Given the description of an element on the screen output the (x, y) to click on. 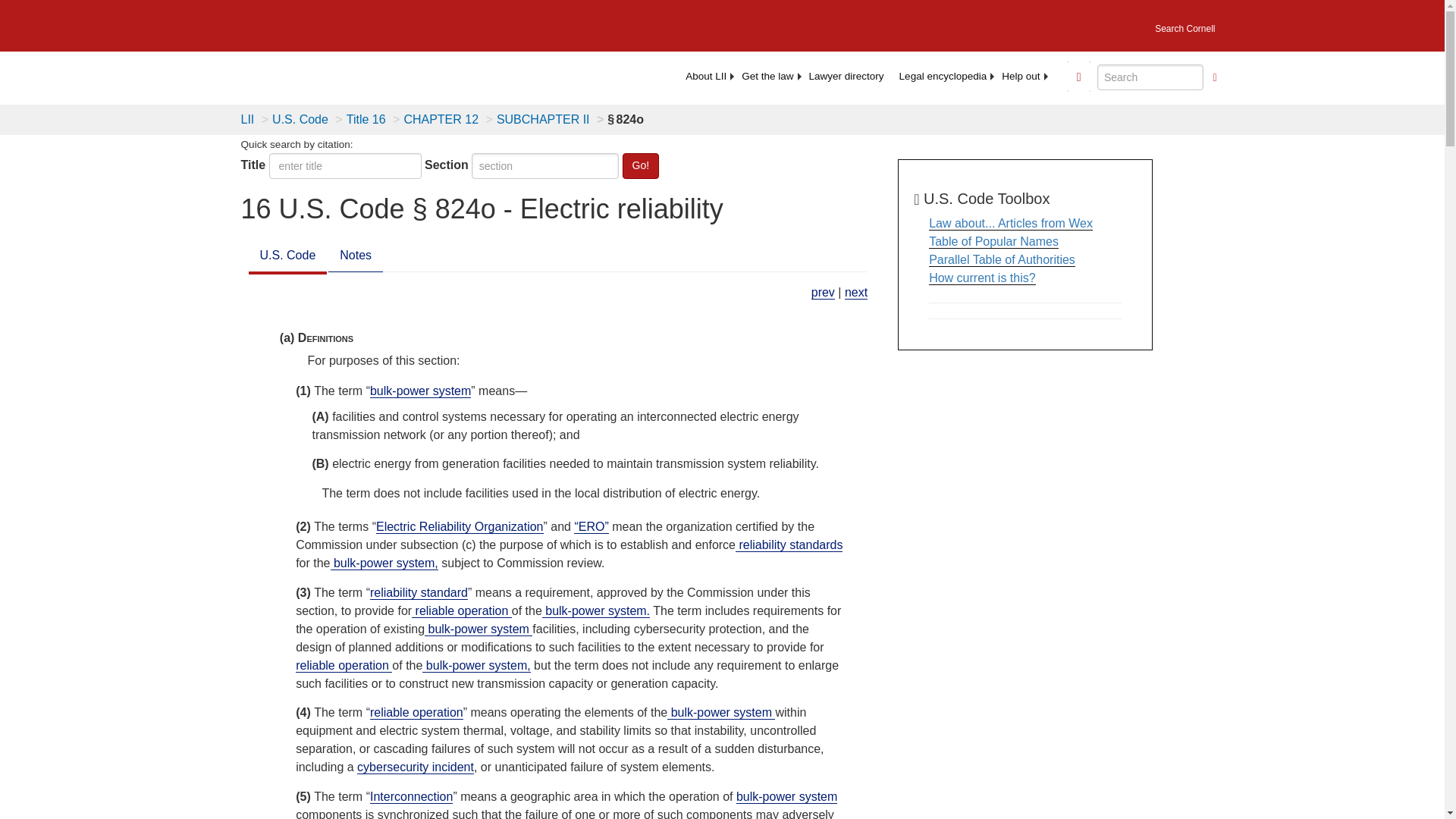
Cornell Law School (348, 23)
Cornell University (249, 23)
US Code Title number (345, 166)
Legal encyclopedia (942, 76)
Get the law (766, 76)
US Code Section number (544, 166)
Lawyer directory (846, 76)
Search Cornell (1184, 24)
About LII (705, 76)
 Critical electric infrastructure security (855, 292)
